Given the description of an element on the screen output the (x, y) to click on. 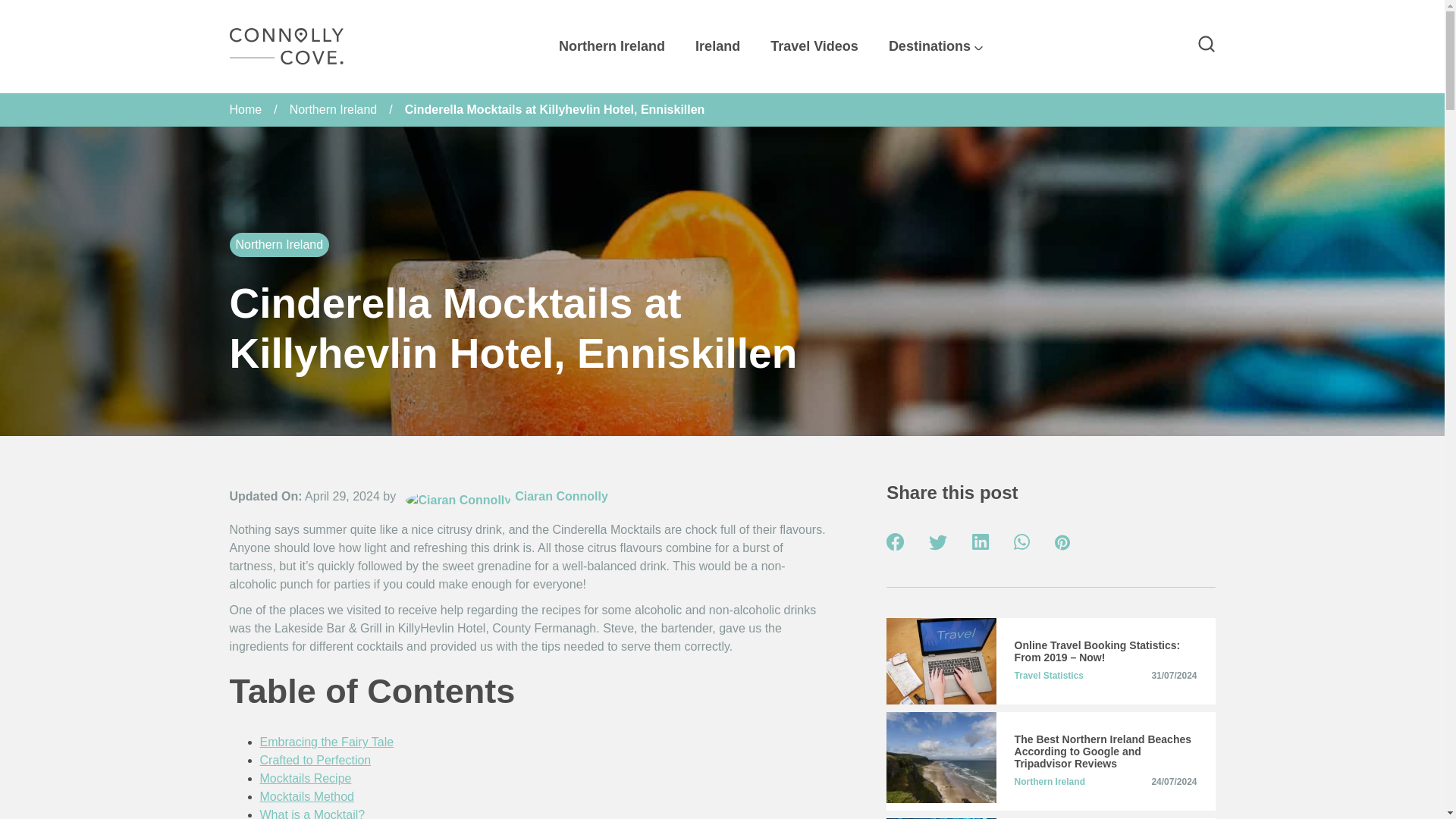
Travel Videos (814, 46)
Northern Ireland (611, 46)
Destinations  (935, 46)
Share on Twitter (937, 544)
